Given the description of an element on the screen output the (x, y) to click on. 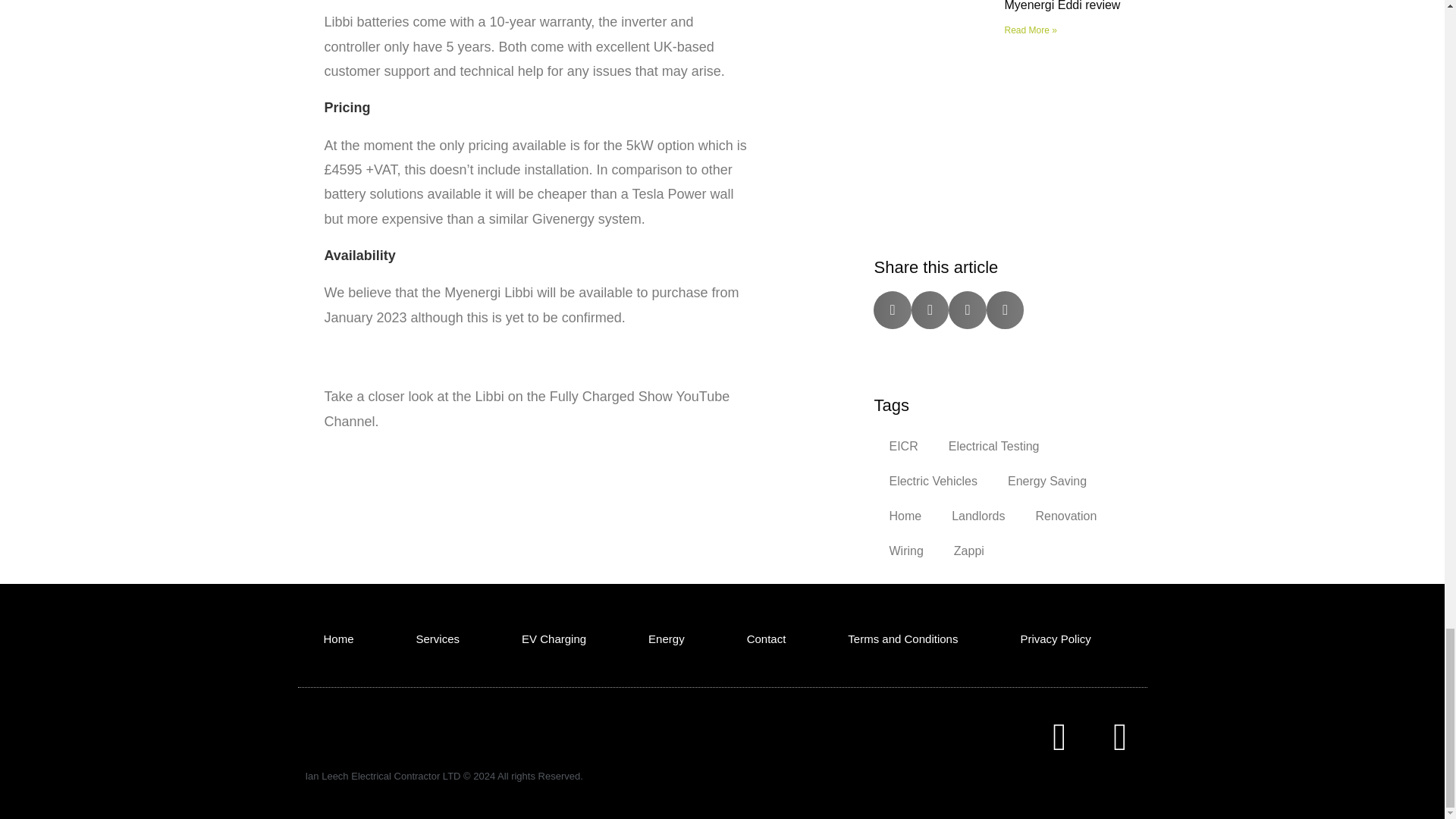
EICR (903, 446)
Energy Saving (1047, 481)
Electric Vehicles (932, 481)
Myenergi Eddi review (1061, 5)
Electrical Testing (993, 446)
Landlords (978, 515)
Home (904, 515)
